Given the description of an element on the screen output the (x, y) to click on. 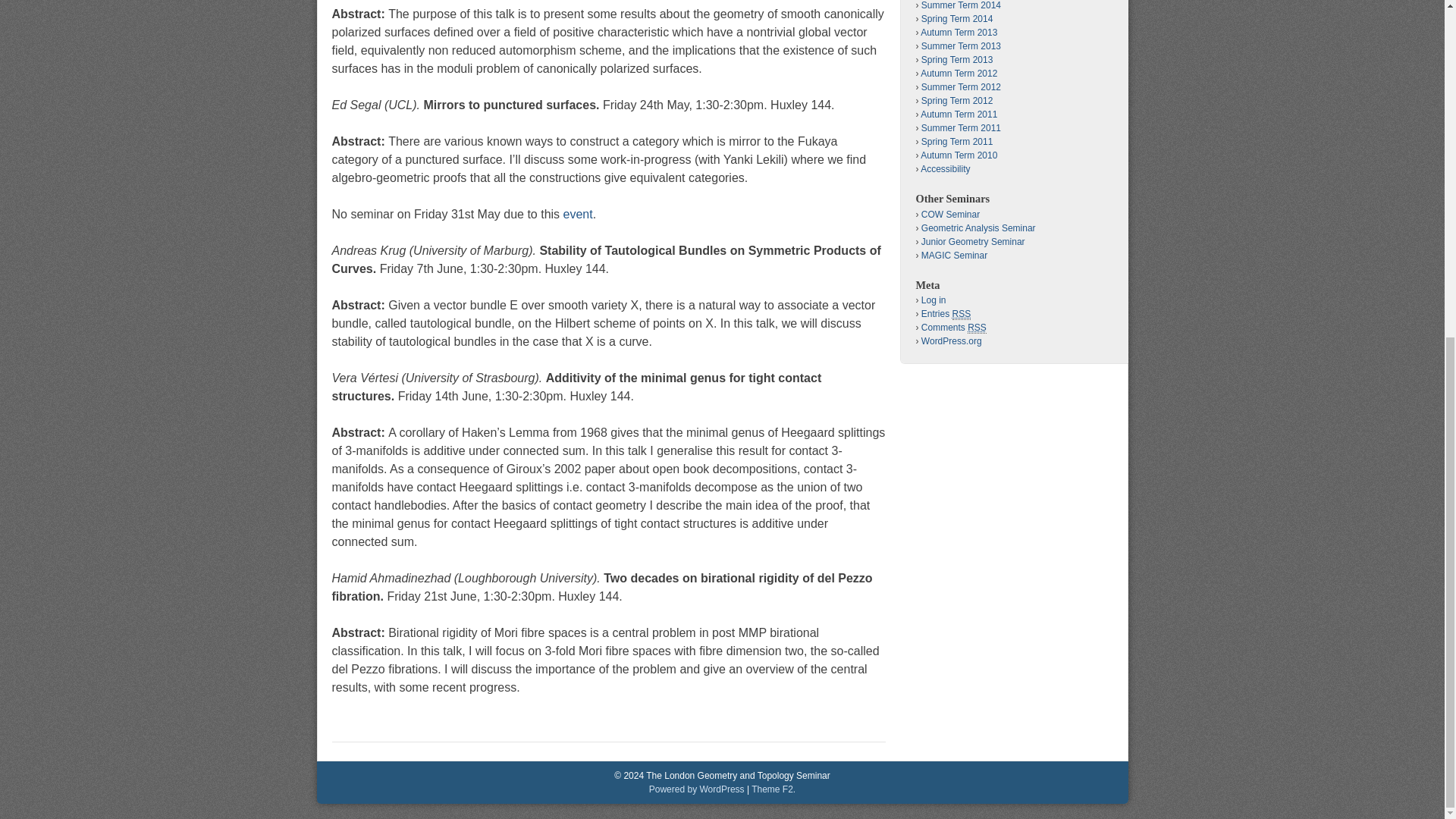
Imperial Junior Geometry Seminar (973, 241)
Really Simple Syndication (977, 327)
COW seminar (950, 214)
A Semantic Personal Publishing Platform (696, 788)
More Algebraic Geometry at Imperial College (954, 255)
Really Simple Syndication (961, 314)
event (577, 213)
